Given the description of an element on the screen output the (x, y) to click on. 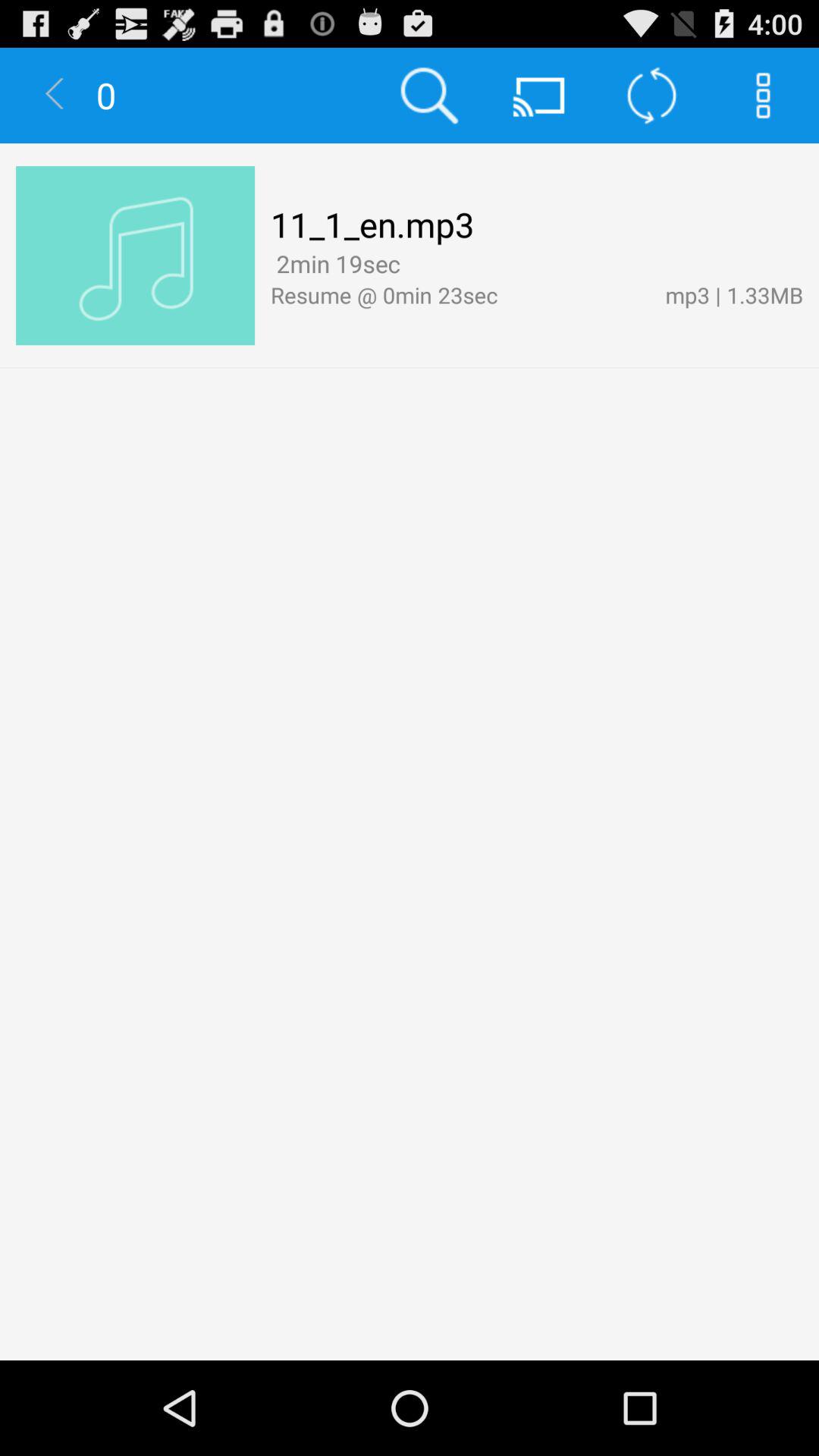
open icon below  2min 19sec item (459, 294)
